Given the description of an element on the screen output the (x, y) to click on. 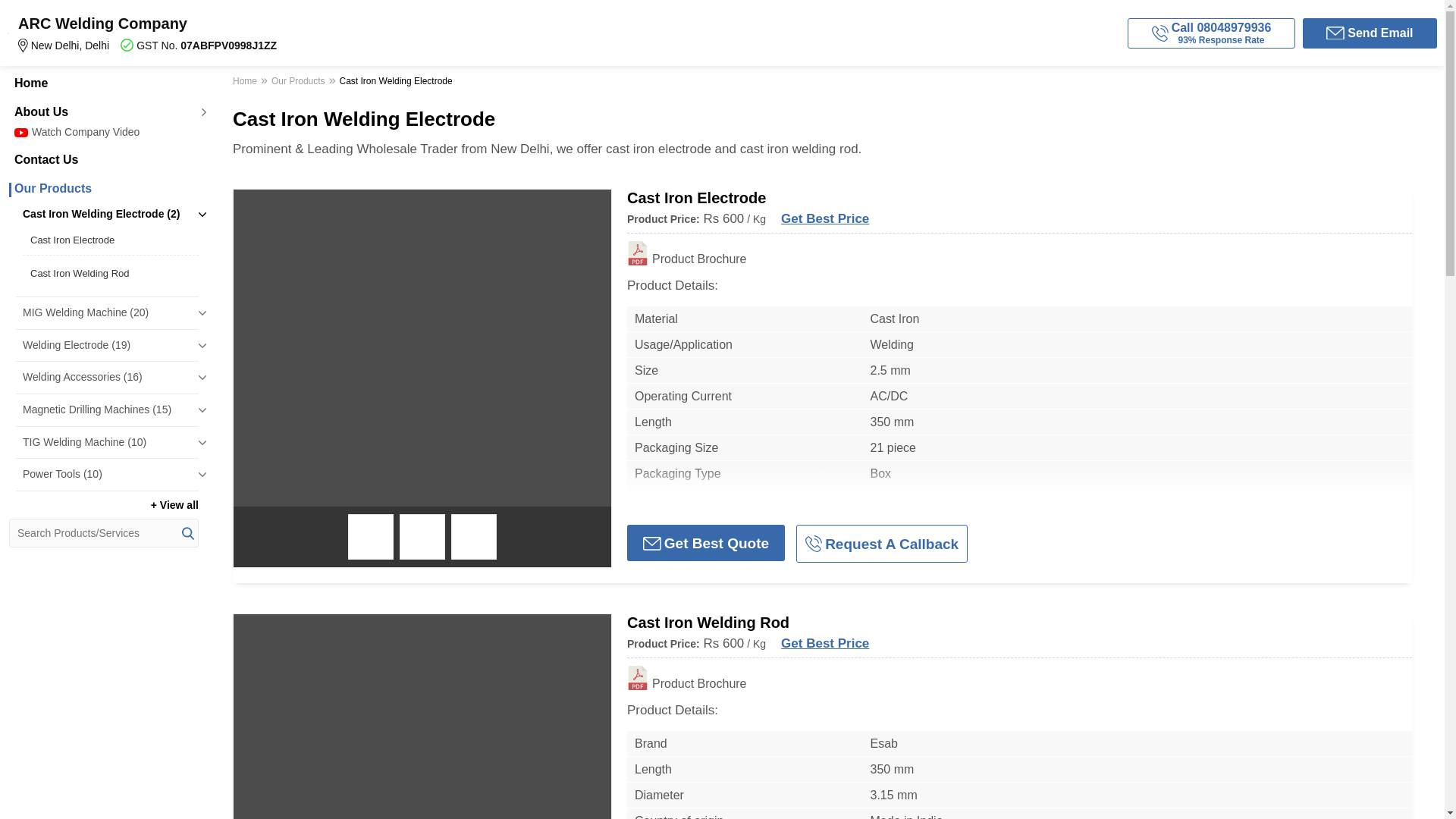
Cast Iron Electrode (110, 240)
Cast Iron Welding Rod (110, 273)
Contact Us (229, 32)
Home (103, 159)
Our Products (103, 82)
About Us (103, 188)
